Given the description of an element on the screen output the (x, y) to click on. 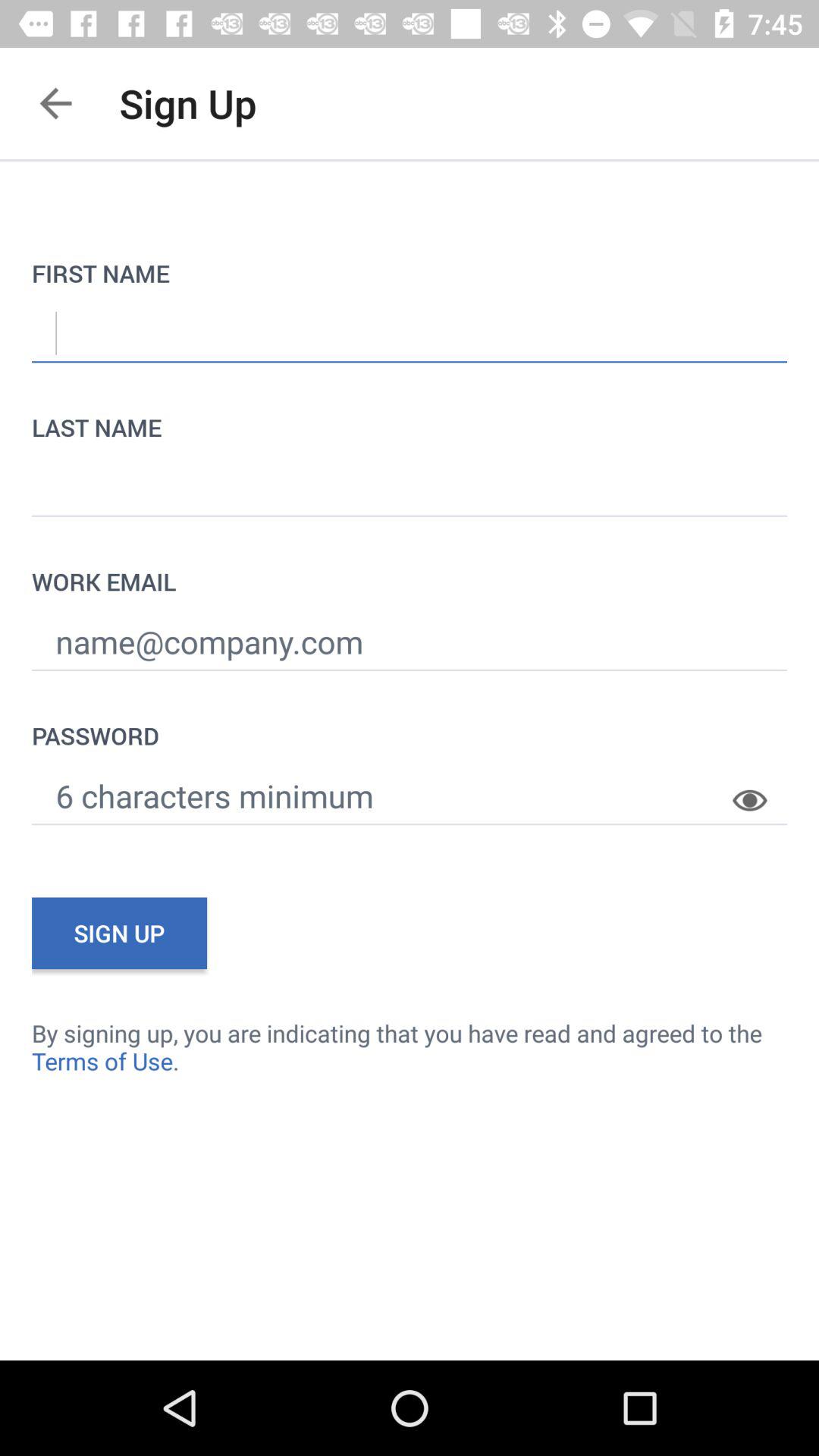
launch app next to the sign up icon (55, 103)
